Given the description of an element on the screen output the (x, y) to click on. 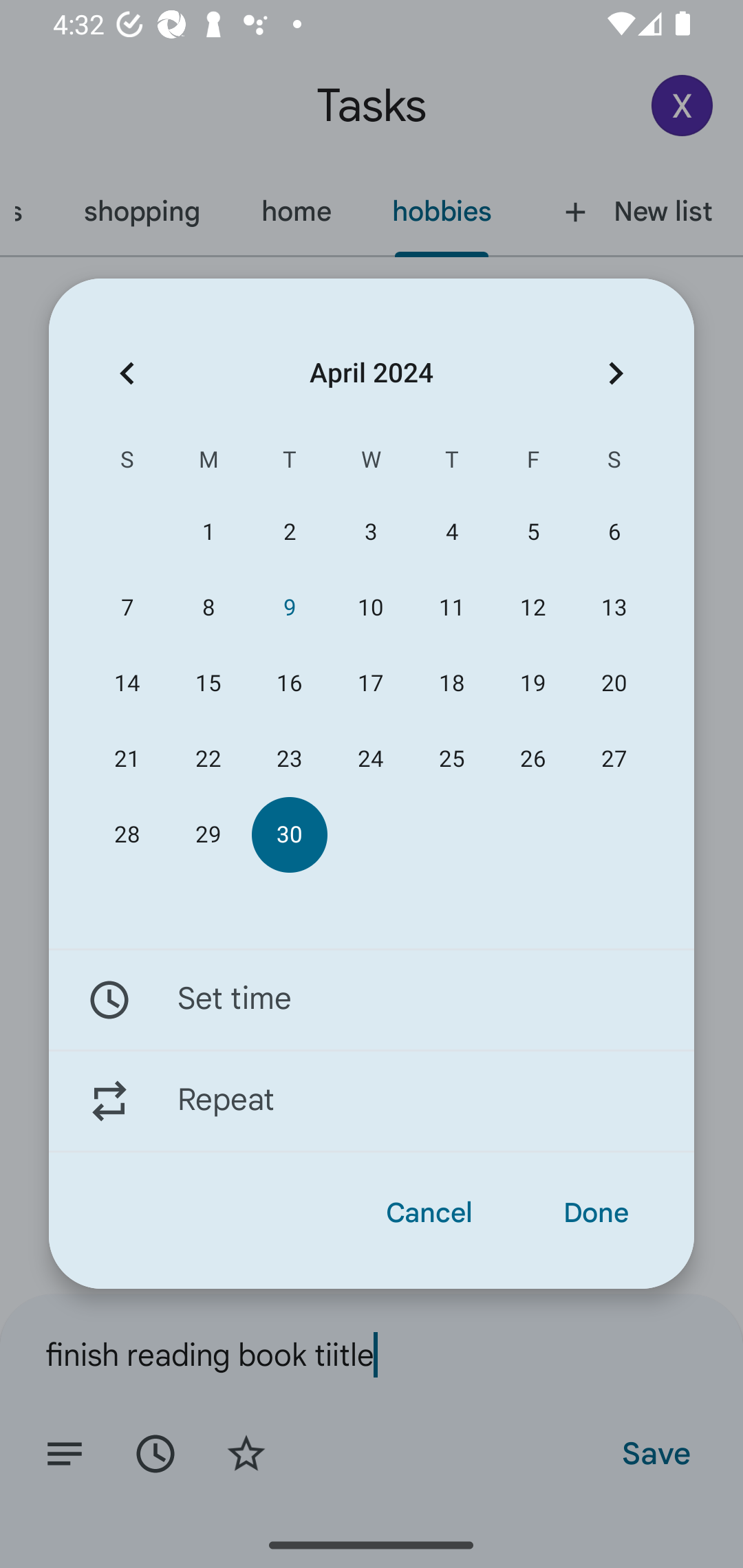
Previous month (126, 372)
Next month (615, 372)
1 01 April 2024 (207, 531)
2 02 April 2024 (288, 531)
3 03 April 2024 (370, 531)
4 04 April 2024 (451, 531)
5 05 April 2024 (532, 531)
6 06 April 2024 (613, 531)
7 07 April 2024 (126, 608)
8 08 April 2024 (207, 608)
9 09 April 2024 (288, 608)
10 10 April 2024 (370, 608)
11 11 April 2024 (451, 608)
12 12 April 2024 (532, 608)
13 13 April 2024 (613, 608)
14 14 April 2024 (126, 683)
15 15 April 2024 (207, 683)
16 16 April 2024 (288, 683)
17 17 April 2024 (370, 683)
18 18 April 2024 (451, 683)
19 19 April 2024 (532, 683)
20 20 April 2024 (613, 683)
21 21 April 2024 (126, 758)
22 22 April 2024 (207, 758)
23 23 April 2024 (288, 758)
24 24 April 2024 (370, 758)
25 25 April 2024 (451, 758)
26 26 April 2024 (532, 758)
27 27 April 2024 (613, 758)
28 28 April 2024 (126, 834)
29 29 April 2024 (207, 834)
30 30 April 2024 (288, 834)
Set time (371, 999)
Repeat (371, 1101)
Cancel (429, 1213)
Done (595, 1213)
